Given the description of an element on the screen output the (x, y) to click on. 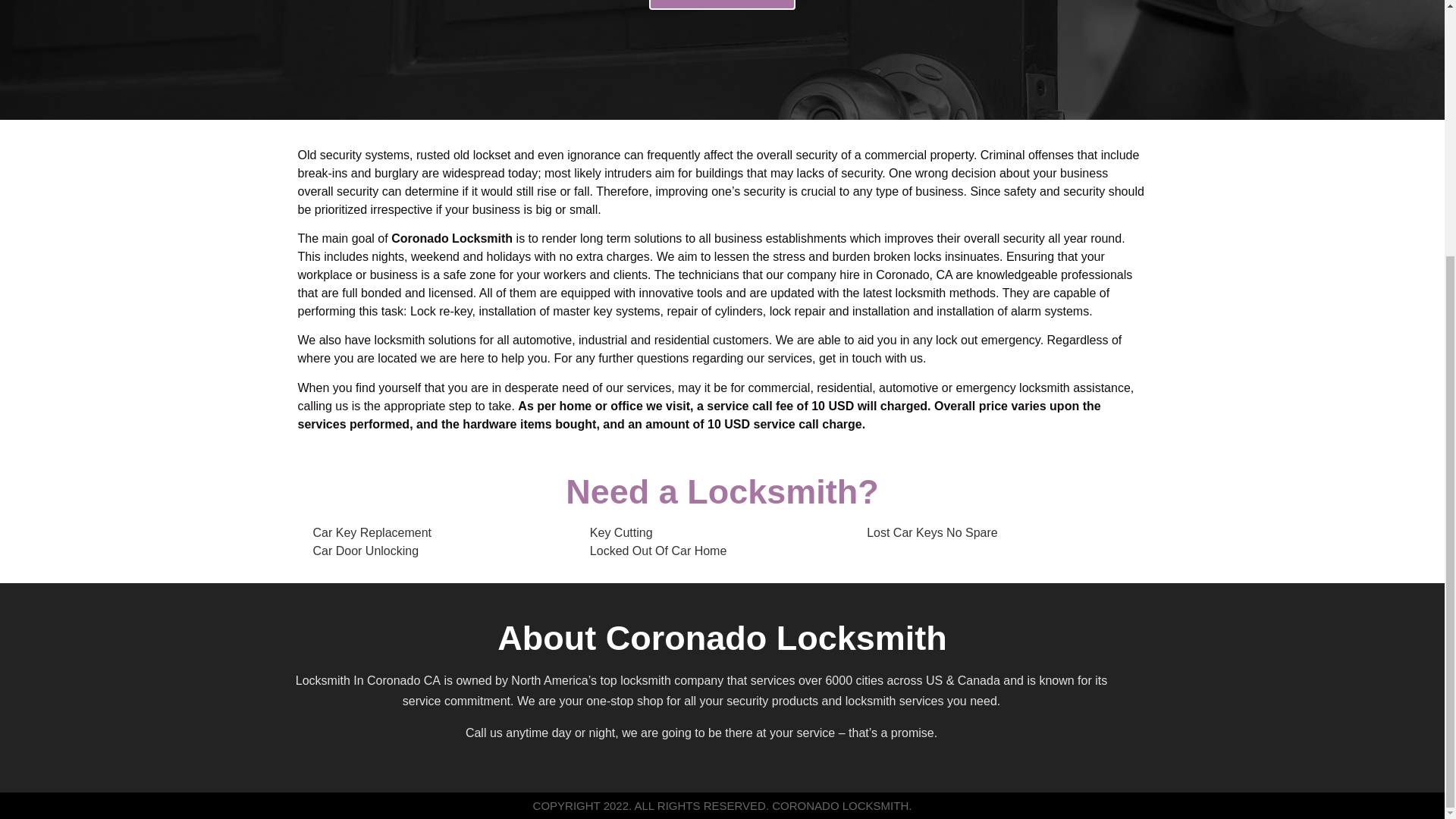
Locked Out Of Car Home (657, 550)
Lost Car Keys No Spare (931, 532)
Car Key Replacement (371, 532)
Car Door Unlocking (366, 550)
Key Cutting (620, 532)
